Given the description of an element on the screen output the (x, y) to click on. 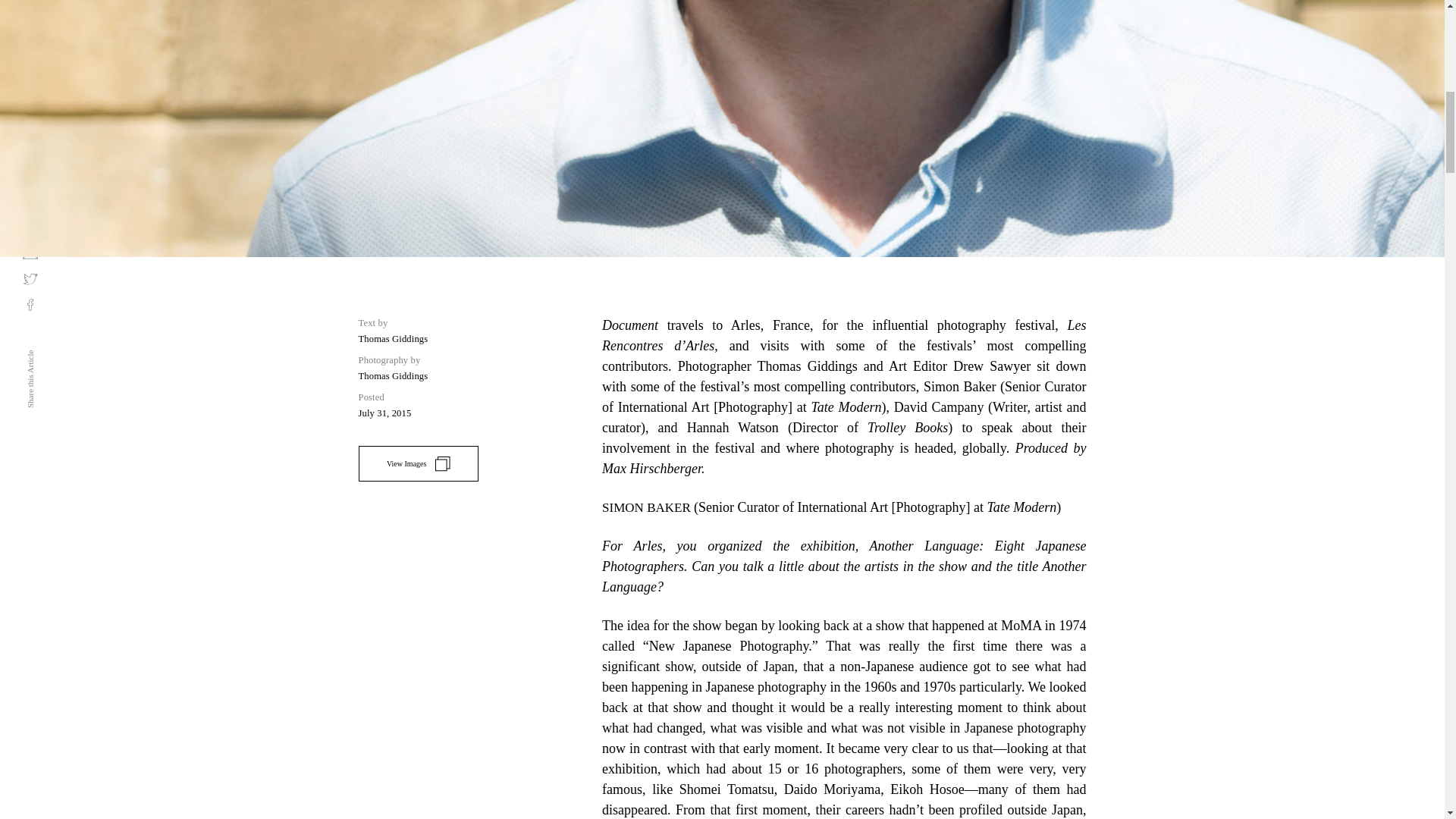
Posts by Thomas Giddings (393, 338)
